Given the description of an element on the screen output the (x, y) to click on. 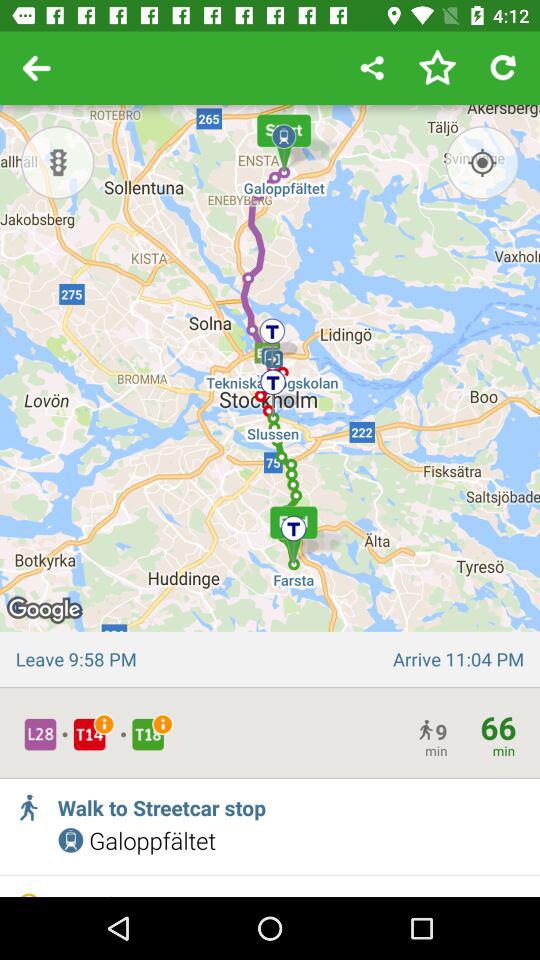
click the icon above the arrive 11 04 item (482, 162)
